Given the description of an element on the screen output the (x, y) to click on. 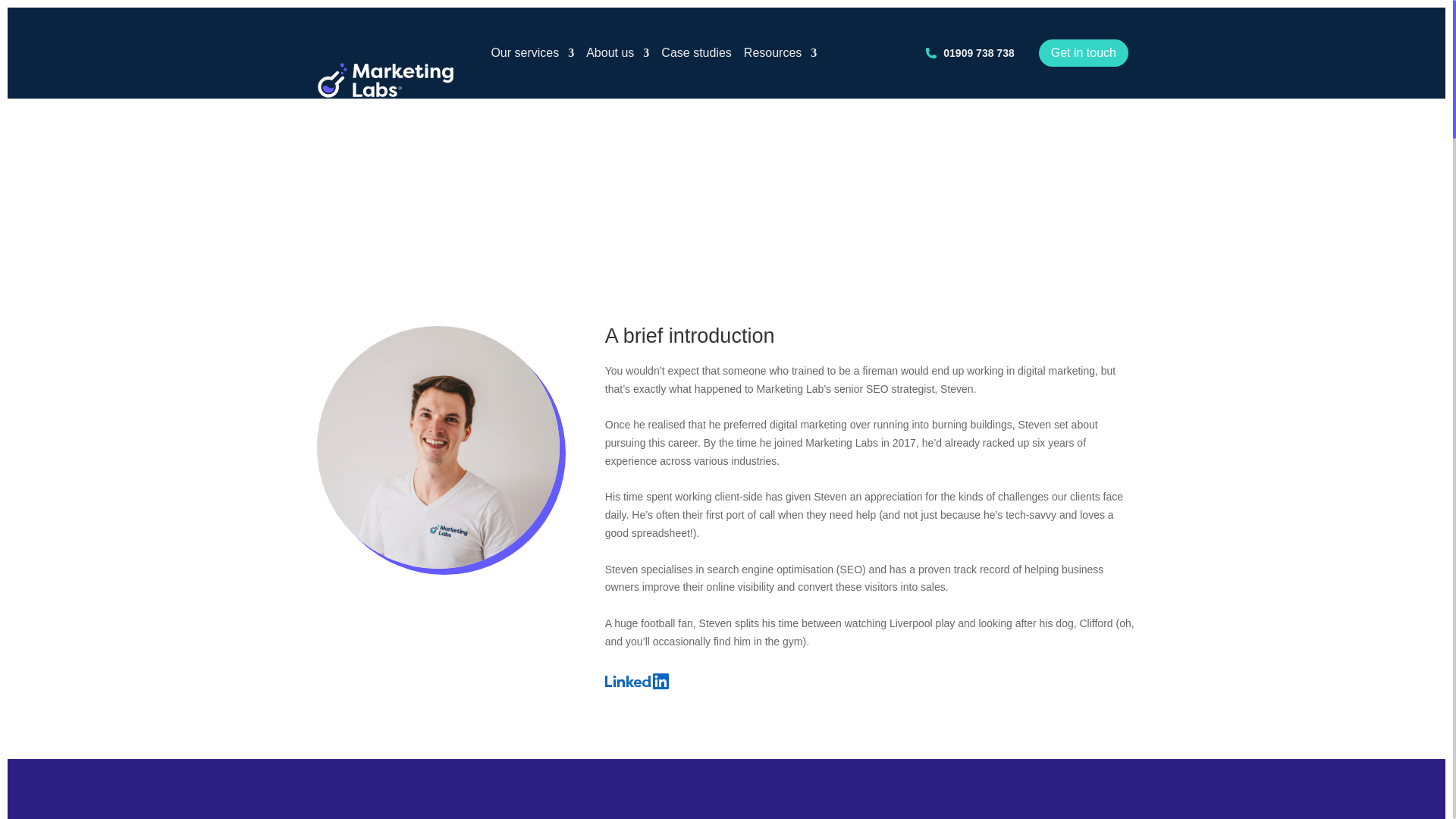
About us (617, 52)
Our services (531, 52)
ML LOGO WHITE-54 (385, 80)
